Given the description of an element on the screen output the (x, y) to click on. 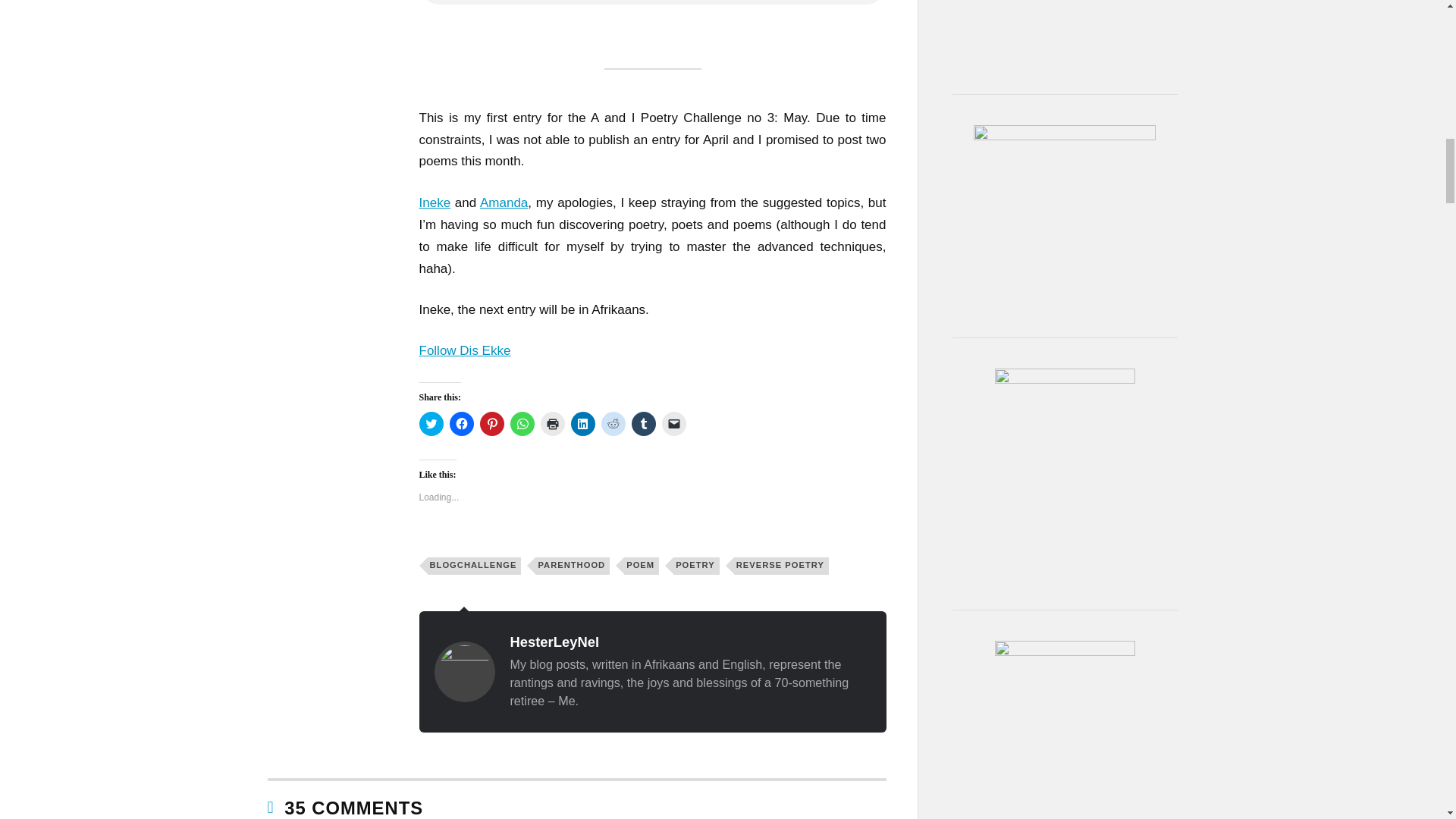
Click to print (552, 423)
Click to share on Facebook (460, 423)
Click to share on Tumblr (642, 423)
Click to email a link to a friend (673, 423)
Click to share on LinkedIn (582, 423)
Click to share on Reddit (611, 423)
Click to share on Pinterest (491, 423)
Click to share on Twitter (430, 423)
Click to share on WhatsApp (521, 423)
